Given the description of an element on the screen output the (x, y) to click on. 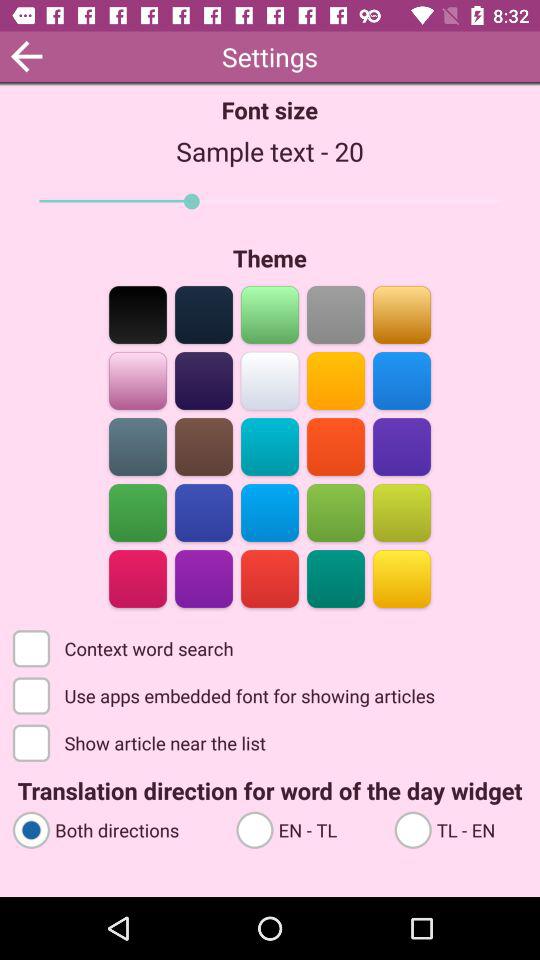
select blue theme color (203, 511)
